Given the description of an element on the screen output the (x, y) to click on. 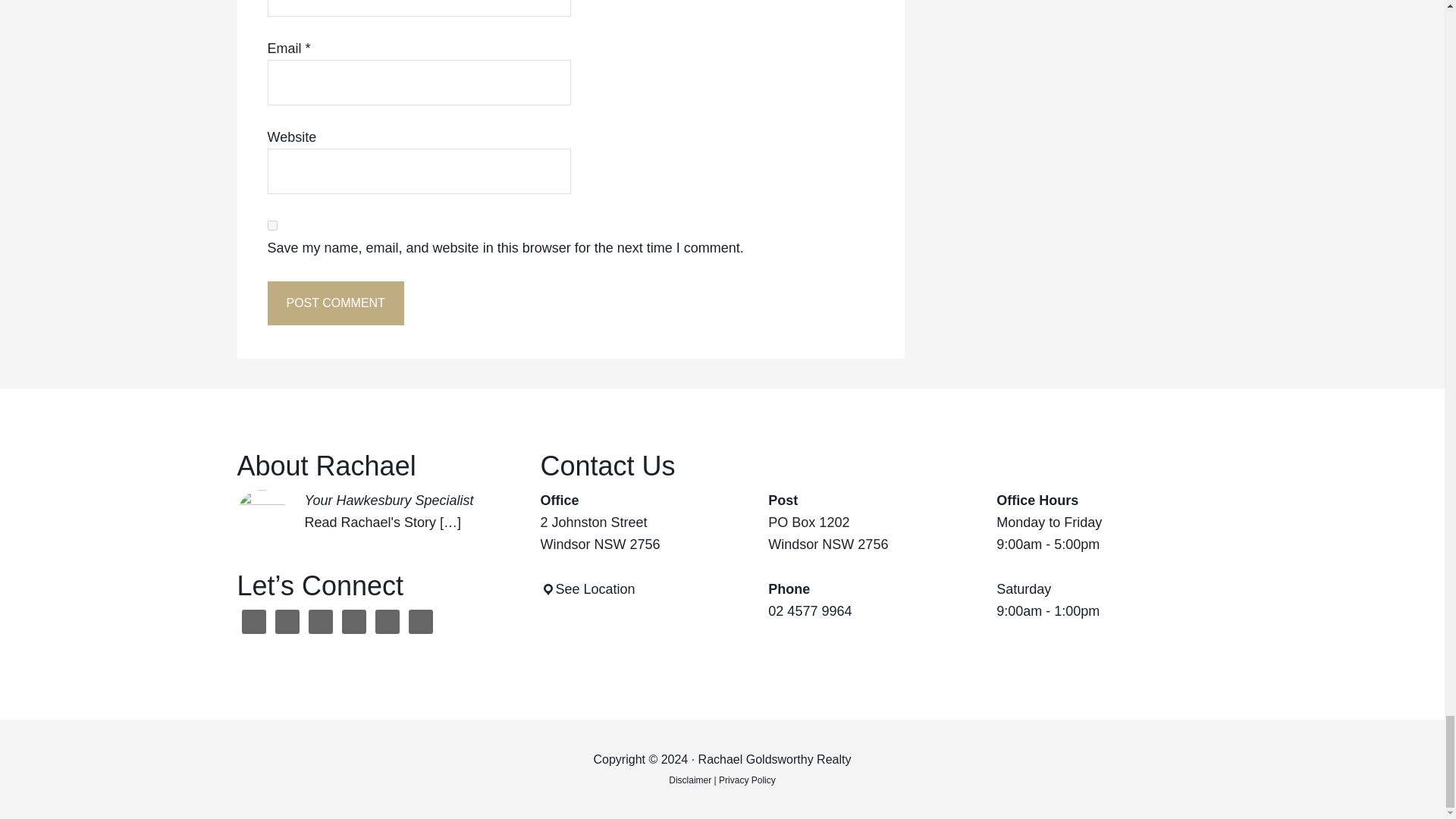
yes (271, 225)
Post Comment (334, 303)
